Given the description of an element on the screen output the (x, y) to click on. 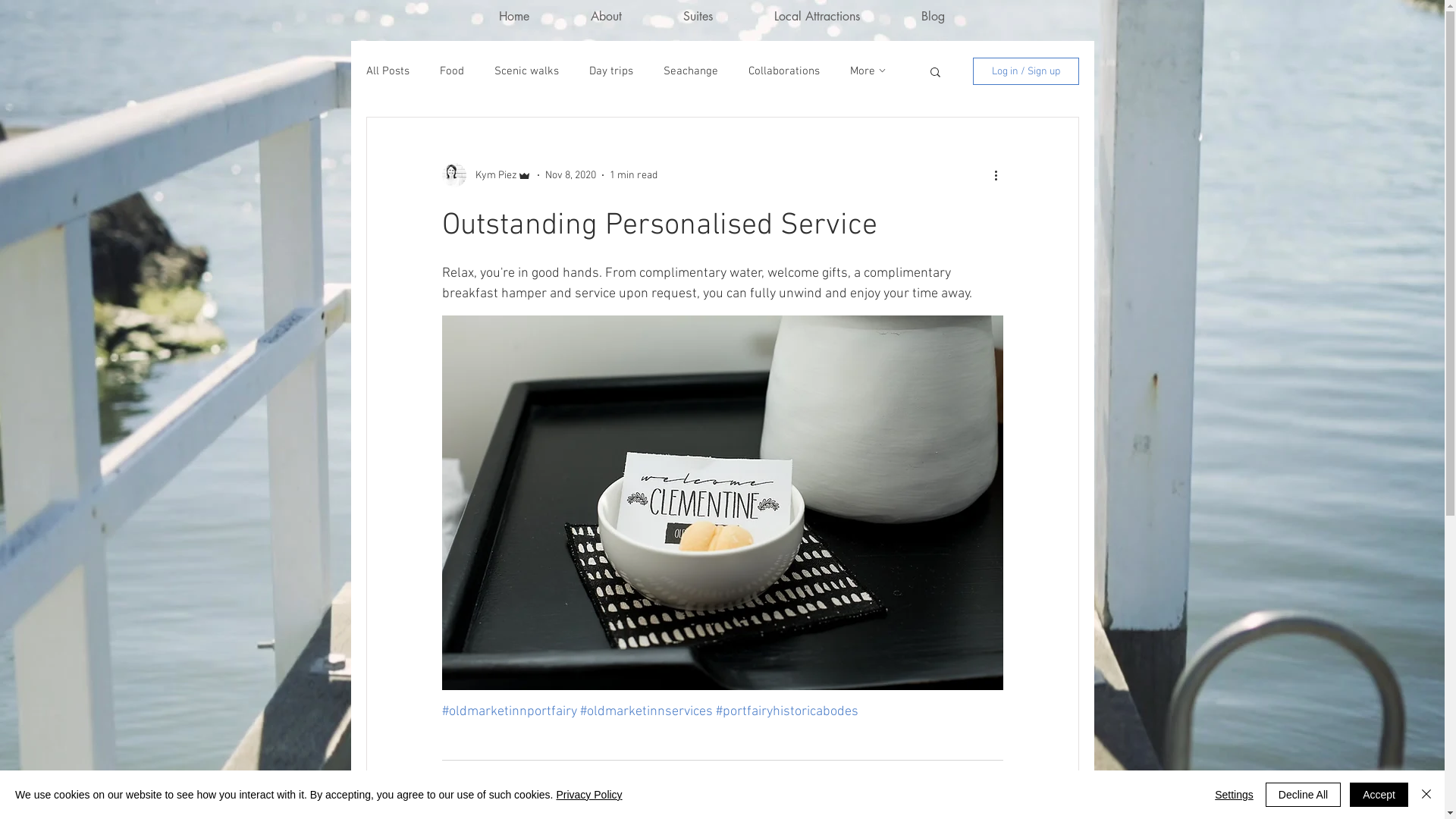
Scenic walks Element type: text (526, 71)
Privacy Policy Element type: text (588, 794)
#oldmarketinnportfairy Element type: text (508, 711)
Home Element type: text (514, 9)
Services Element type: text (982, 782)
Decline All Element type: text (1302, 794)
Seachange Element type: text (689, 71)
Accept Element type: text (1378, 794)
Local Attractions Element type: text (816, 9)
Day trips Element type: text (610, 71)
About Element type: text (605, 9)
All Posts Element type: text (386, 71)
Log in / Sign up Element type: text (1025, 70)
Blog Element type: text (932, 9)
#oldmarketinnservices Element type: text (645, 711)
Suites Element type: text (697, 9)
#portfairyhistoricabodes Element type: text (786, 711)
Collaborations Element type: text (783, 71)
Food Element type: text (451, 71)
